Given the description of an element on the screen output the (x, y) to click on. 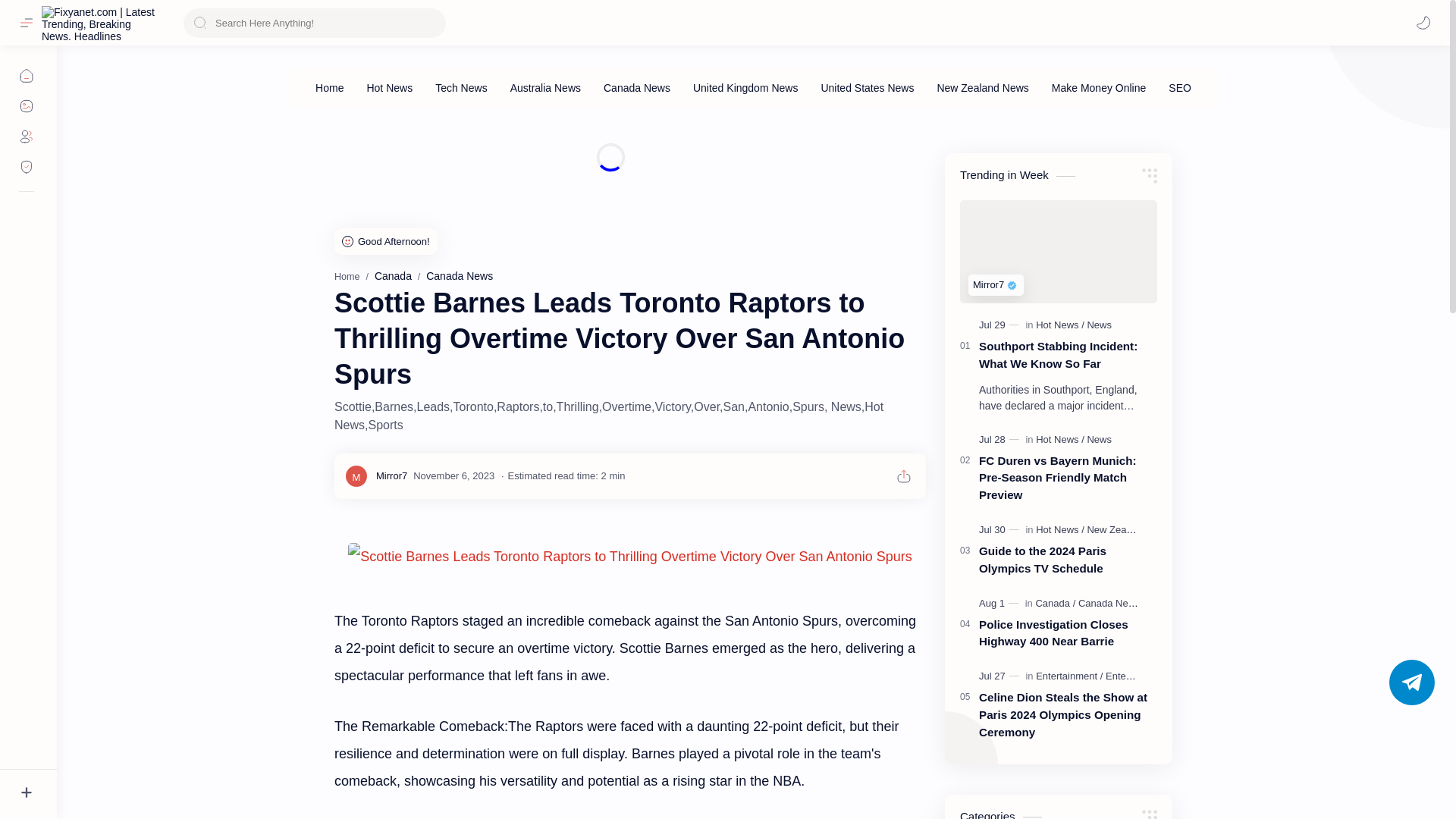
Canada (393, 275)
Published: July 27, 2024 (1000, 676)
Home (346, 276)
Canada News (459, 275)
Published: November 6, 2023 (454, 475)
Published: August 1, 2024 (1000, 603)
Published: July 28, 2024 (1000, 439)
Published: July 29, 2024 (1000, 325)
Published: July 30, 2024 (1000, 530)
